Given the description of an element on the screen output the (x, y) to click on. 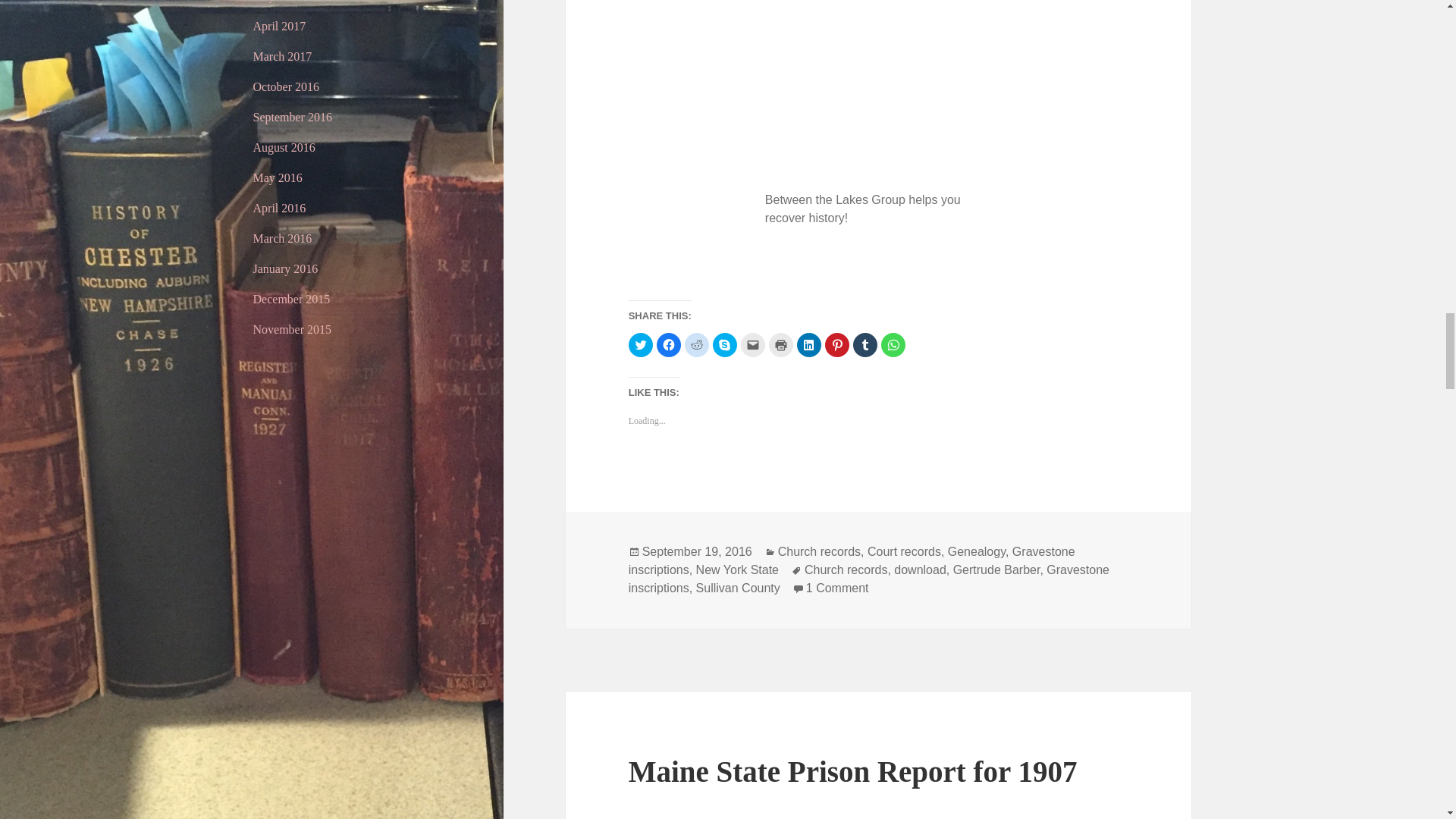
Click to share on WhatsApp (892, 344)
Click to share on Reddit (696, 344)
Click to email a link to a friend (753, 344)
Click to share on Pinterest (836, 344)
Click to share on Skype (724, 344)
Click to print (780, 344)
Click to share on Tumblr (865, 344)
Click to share on LinkedIn (808, 344)
Click to share on Facebook (668, 344)
Click to share on Twitter (640, 344)
